Given the description of an element on the screen output the (x, y) to click on. 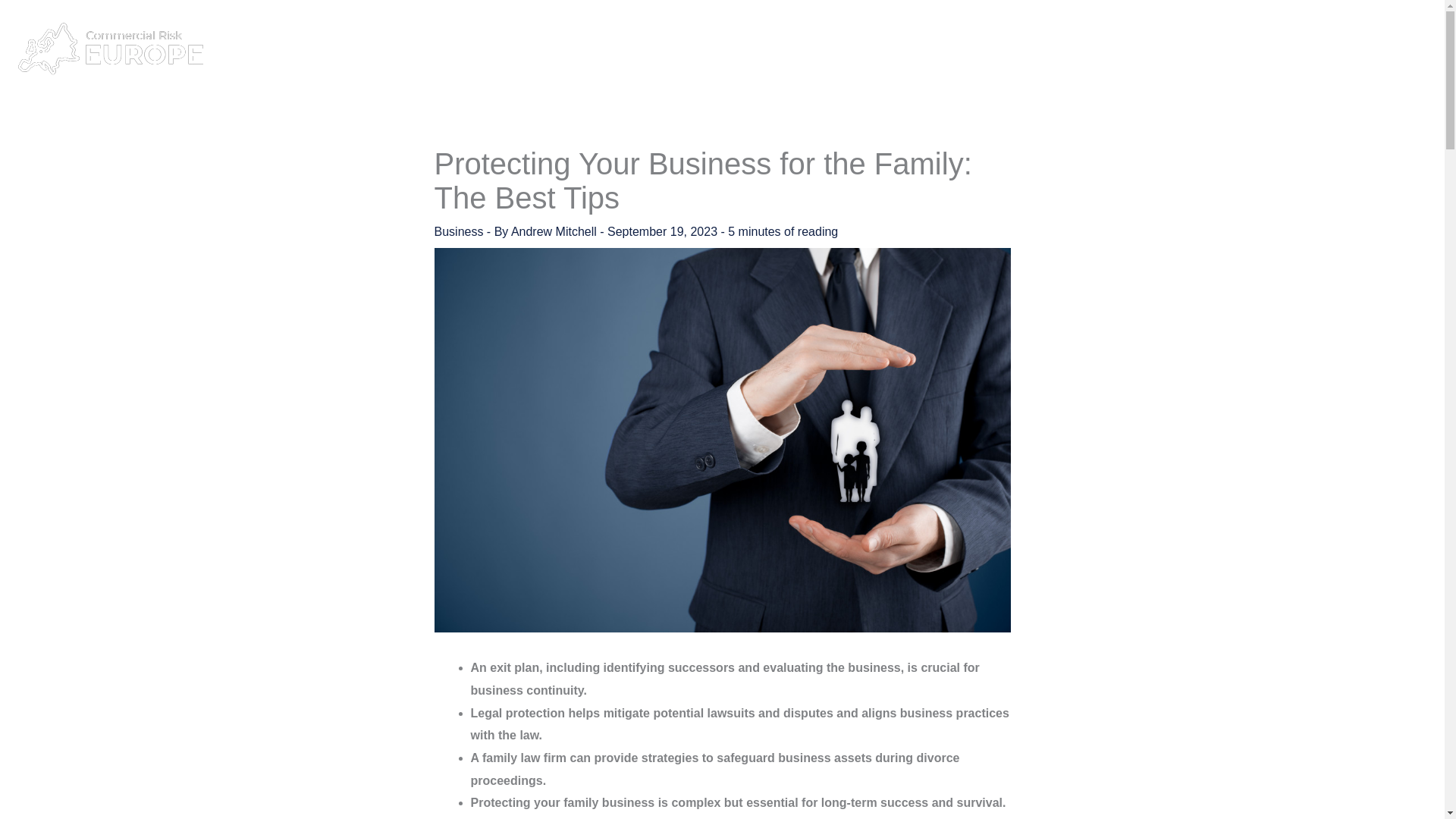
Business Legalities (1115, 49)
Business (1014, 49)
Andrew Mitchell (555, 231)
International Growth (1246, 49)
Business (458, 231)
View all posts by Andrew Mitchell (555, 231)
Technology (1356, 49)
